Given the description of an element on the screen output the (x, y) to click on. 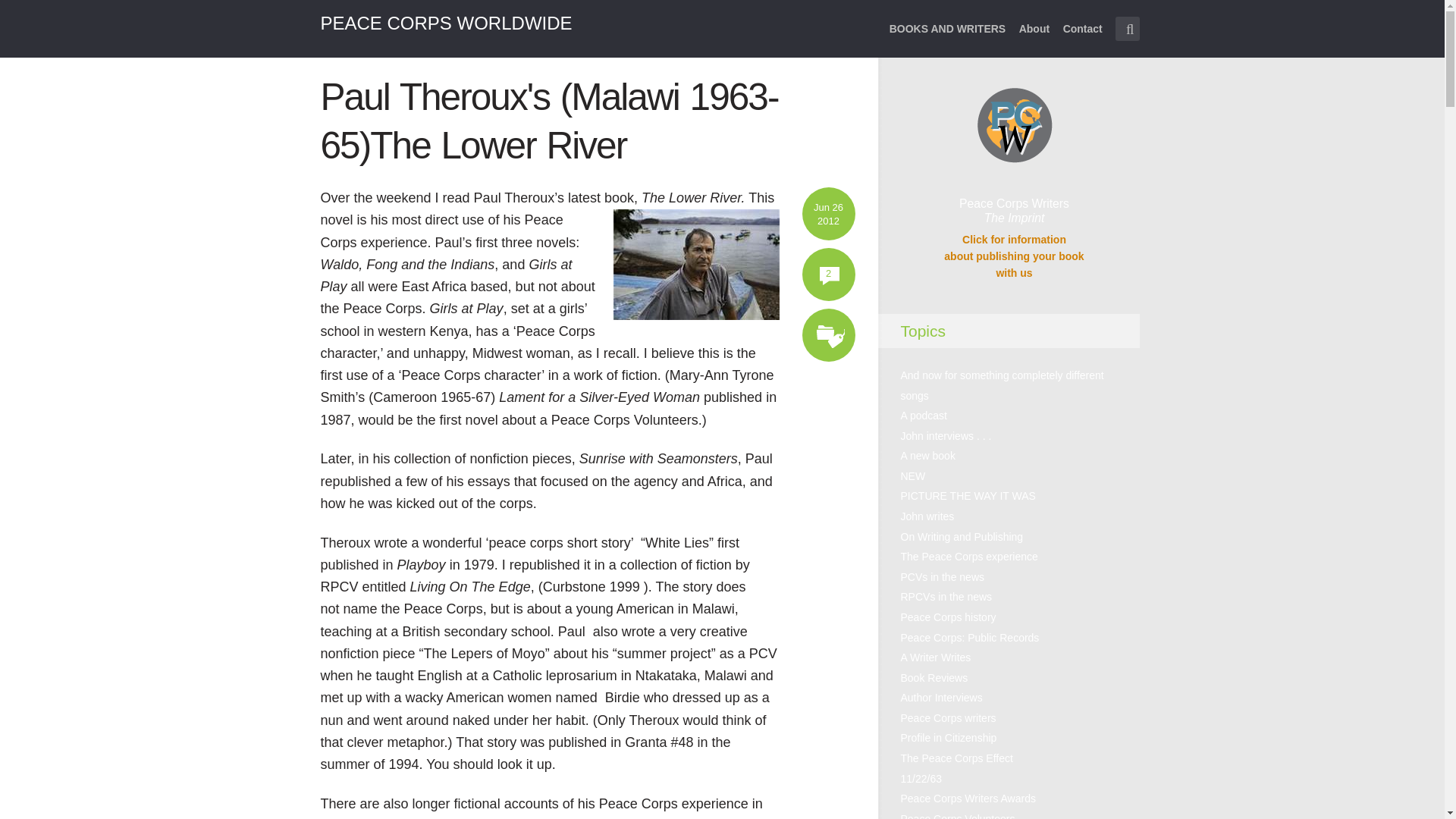
BOOKS AND WRITERS (947, 37)
Type here to search... (1126, 28)
Peace Corps Worldwide (1013, 256)
The Peace Corps experience (446, 23)
John writes (969, 556)
PICTURE THE WAY IT WAS (928, 516)
Contact (968, 495)
A podcast (1082, 37)
A new book (924, 415)
